Given the description of an element on the screen output the (x, y) to click on. 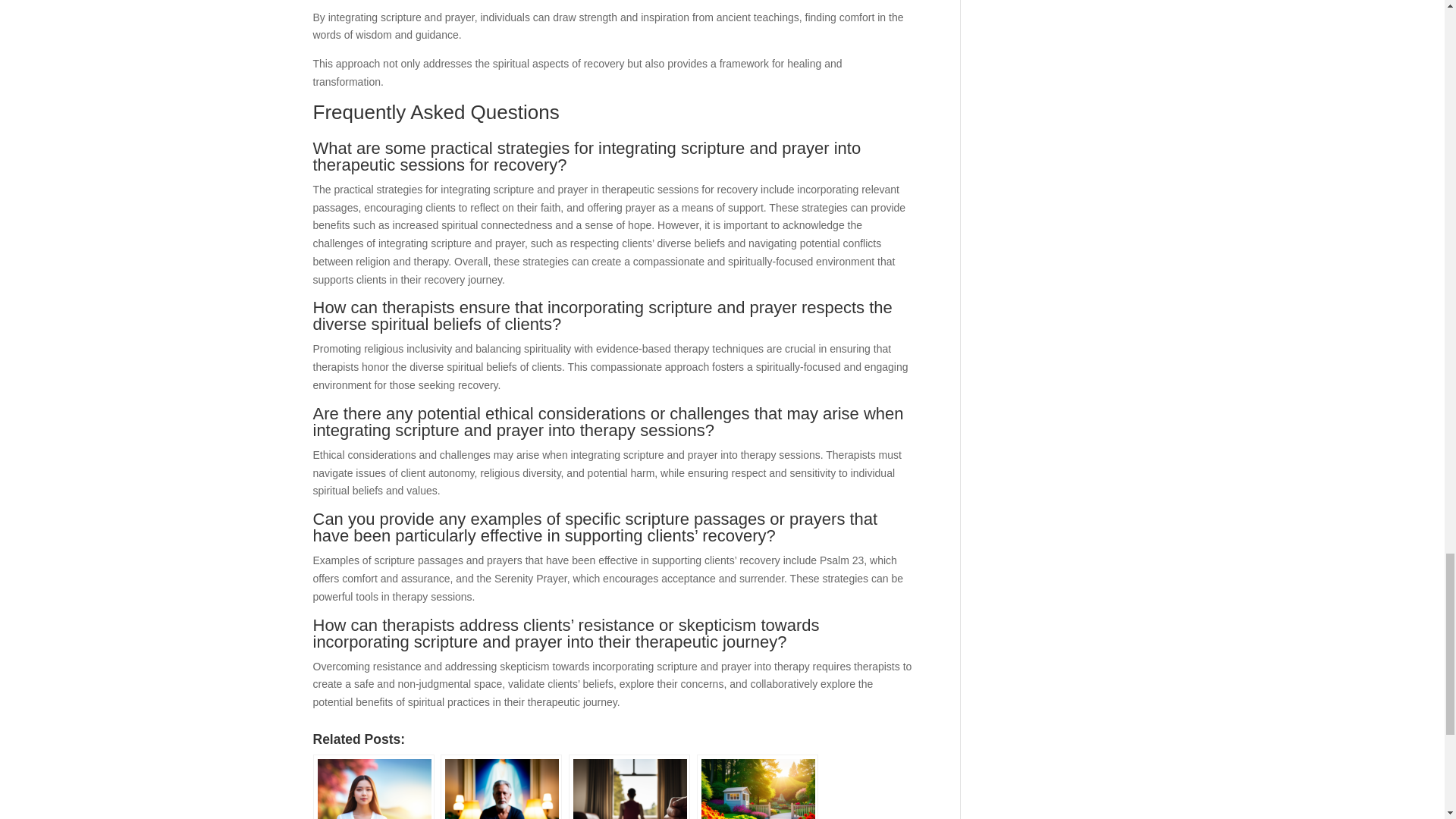
The Role of Christian Counseling in Overcoming Addiction (501, 786)
The Role of Christian Counseling in Overcoming Addiction (502, 789)
